Given the description of an element on the screen output the (x, y) to click on. 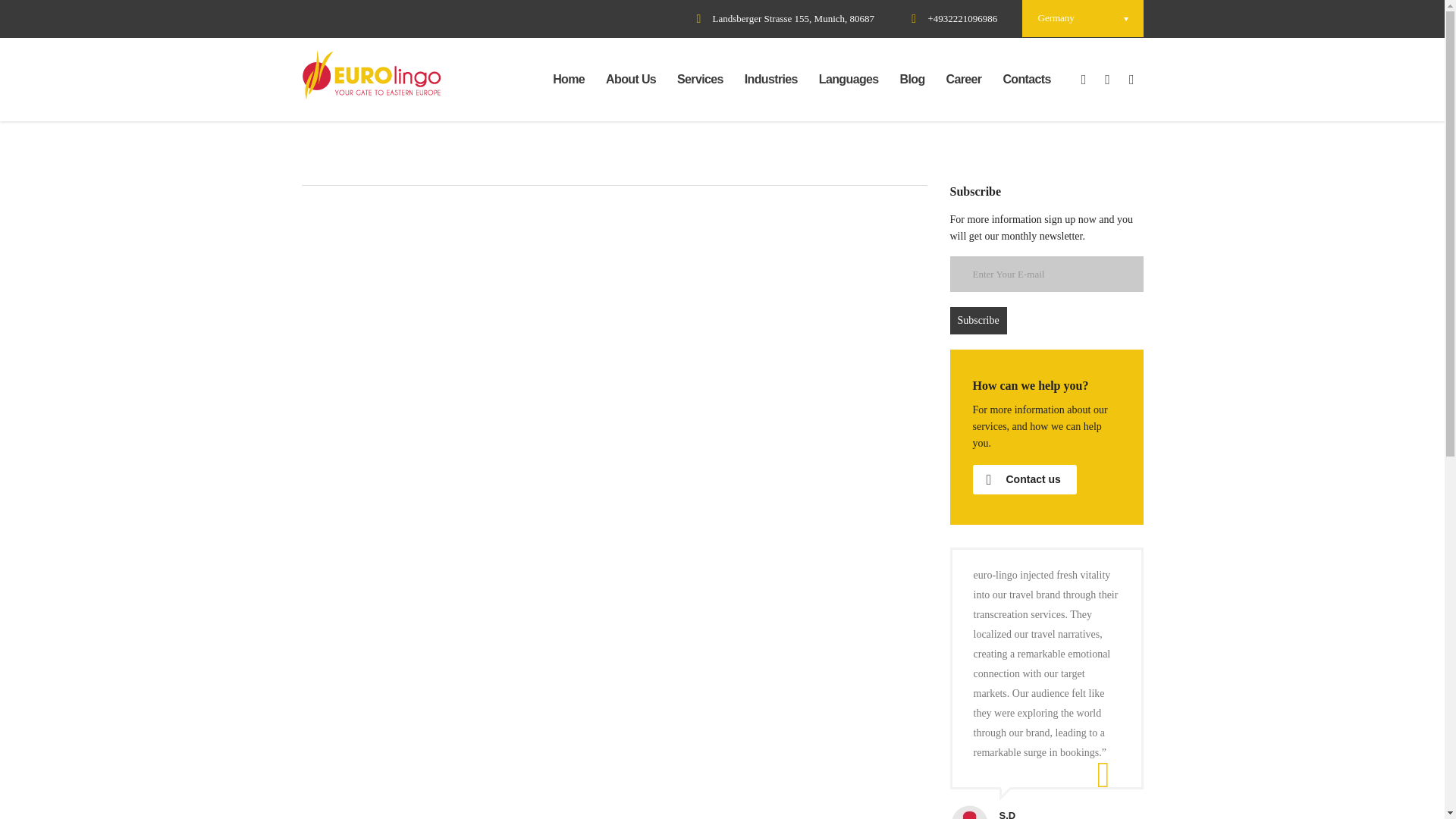
Subscribe (977, 320)
Industries (770, 79)
Languages (848, 79)
